Given the description of an element on the screen output the (x, y) to click on. 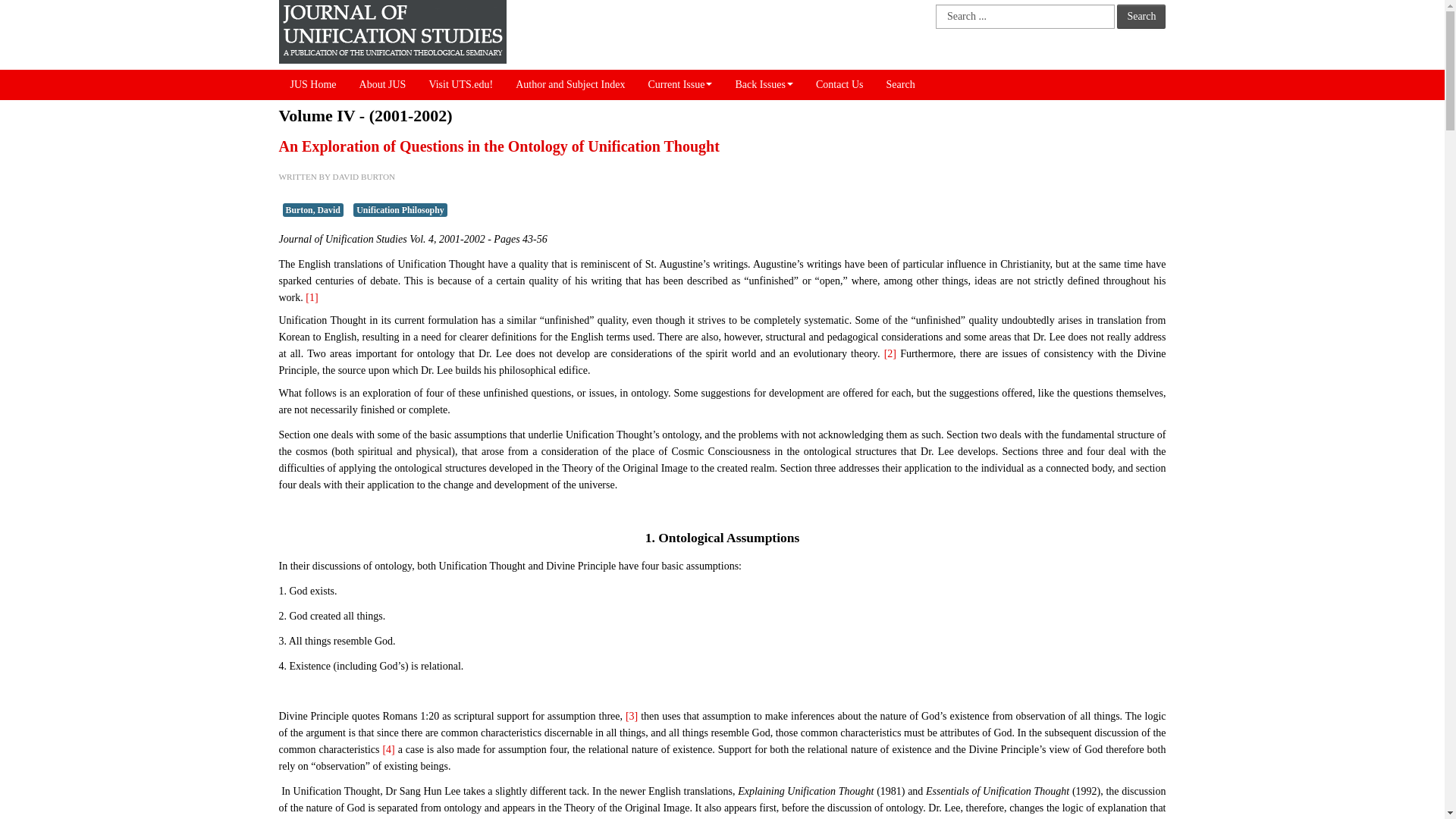
Search ... (1025, 16)
Burton, David (312, 210)
About JUS (382, 84)
Contact Us (840, 84)
Current Issue (679, 84)
Unification Philosophy (399, 210)
JUS Home (313, 84)
Visit UTS.edu! (459, 84)
Back Issues (764, 84)
Search (1141, 16)
